Given the description of an element on the screen output the (x, y) to click on. 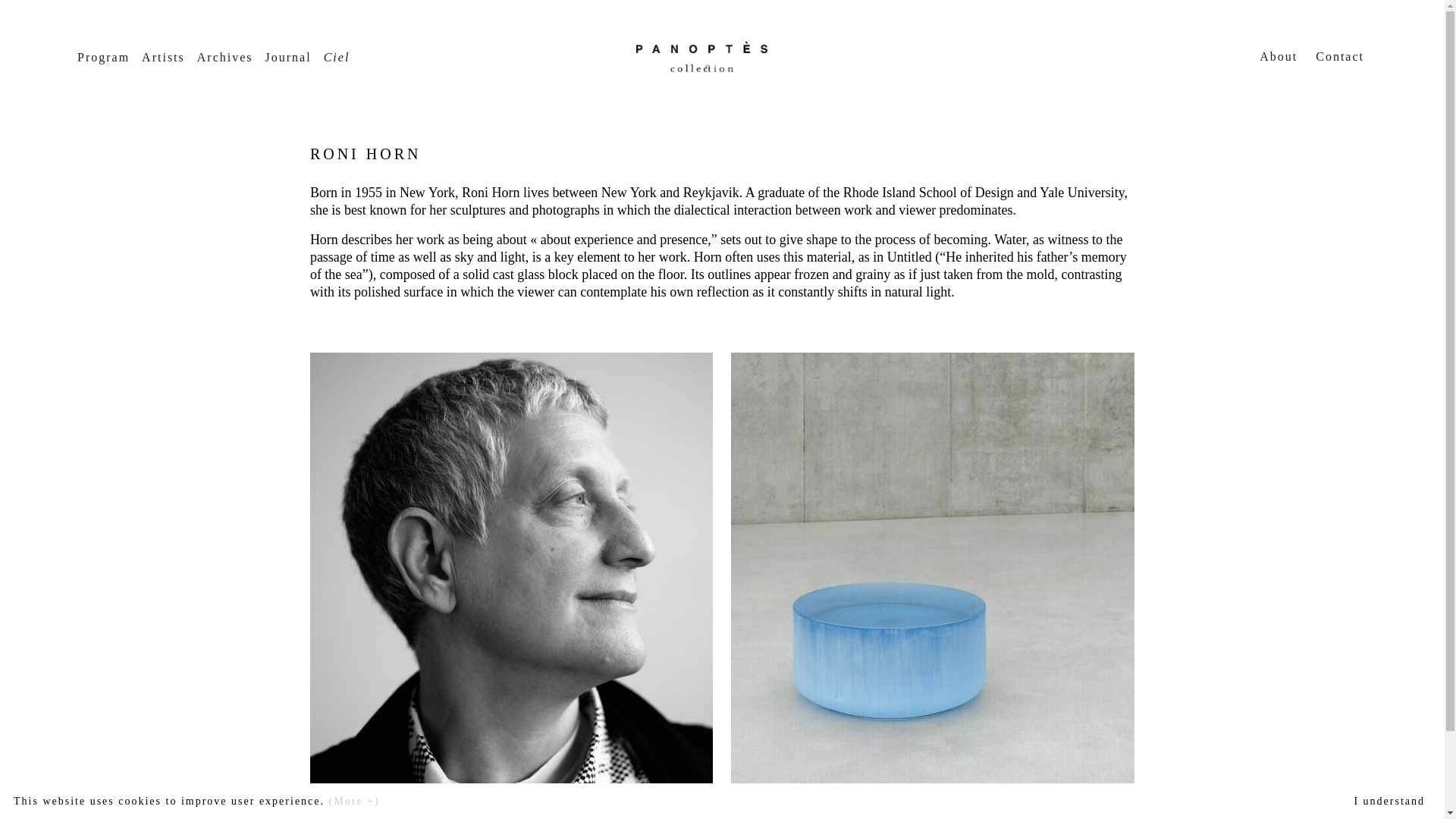
Artists (162, 57)
About (1278, 56)
Program (103, 57)
Contact (1339, 56)
Program (103, 57)
Journal (288, 57)
Ciel (336, 57)
Archives (224, 57)
Journal (288, 57)
Archives (224, 57)
Artists (162, 57)
Ciel (336, 57)
